Given the description of an element on the screen output the (x, y) to click on. 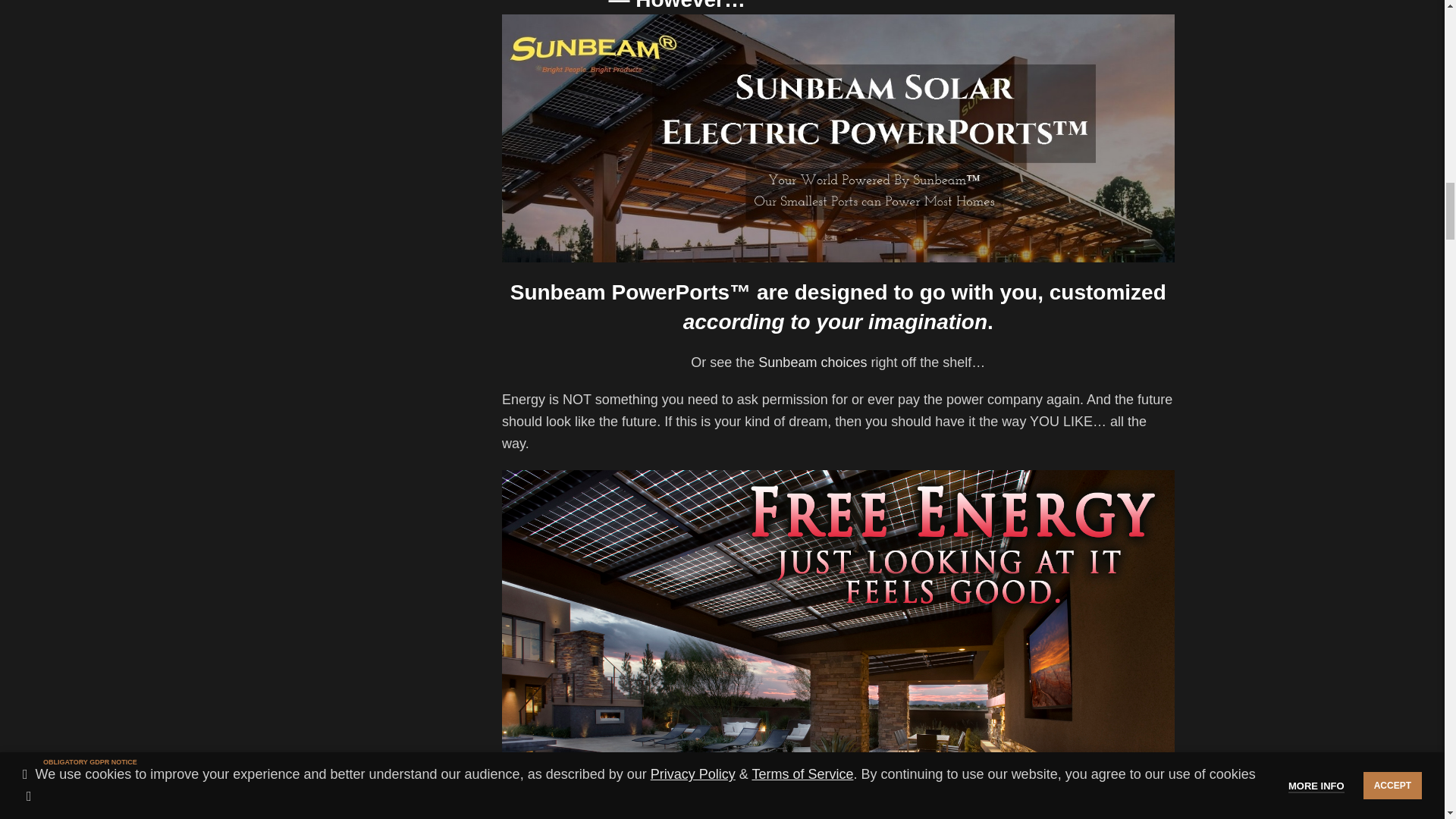
Sunbeam choices (812, 362)
